Given the description of an element on the screen output the (x, y) to click on. 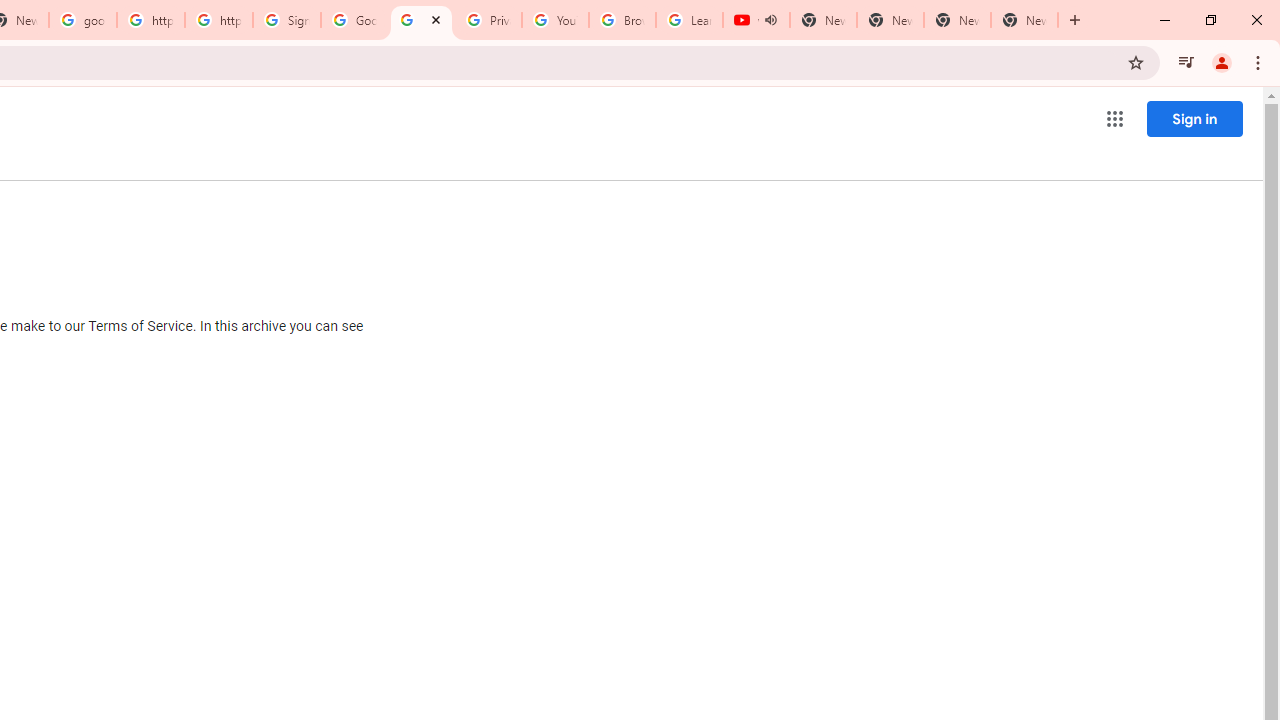
https://scholar.google.com/ (150, 20)
Browse Chrome as a guest - Computer - Google Chrome Help (622, 20)
Sign in - Google Accounts (287, 20)
New Tab (1024, 20)
https://scholar.google.com/ (219, 20)
Mute tab (770, 20)
